Given the description of an element on the screen output the (x, y) to click on. 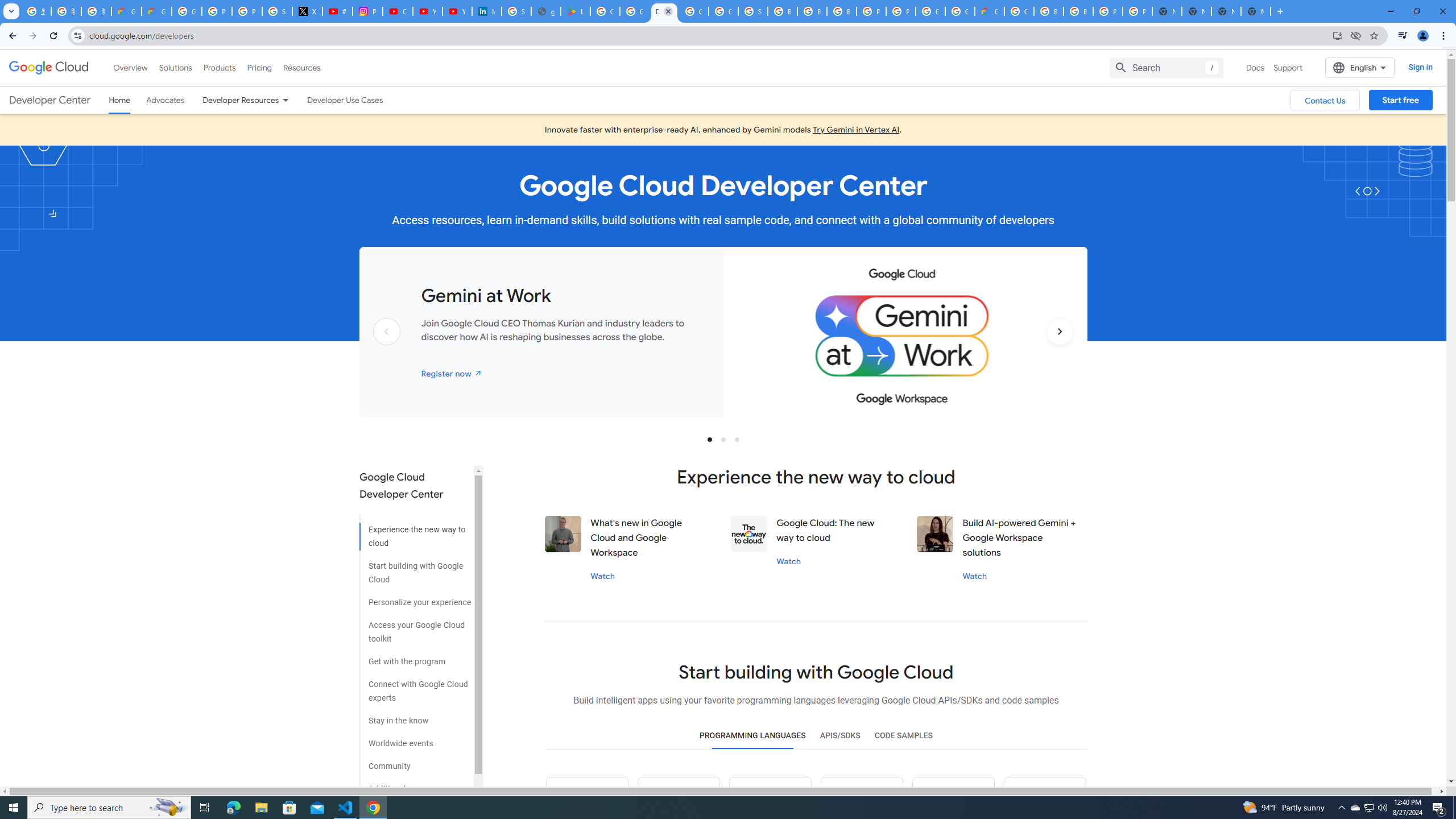
Pricing (259, 67)
CODE SAMPLES (903, 735)
Google Cloud Privacy Notice (156, 11)
Contact Us (1324, 100)
Start building with Google Cloud (415, 568)
Last Shelter: Survival - Apps on Google Play (575, 11)
Google Cloud Platform (959, 11)
Browse Chrome as a guest - Computer - Google Chrome Help (1048, 11)
New Tab (1255, 11)
Google Cloud Estimate Summary (989, 11)
